Given the description of an element on the screen output the (x, y) to click on. 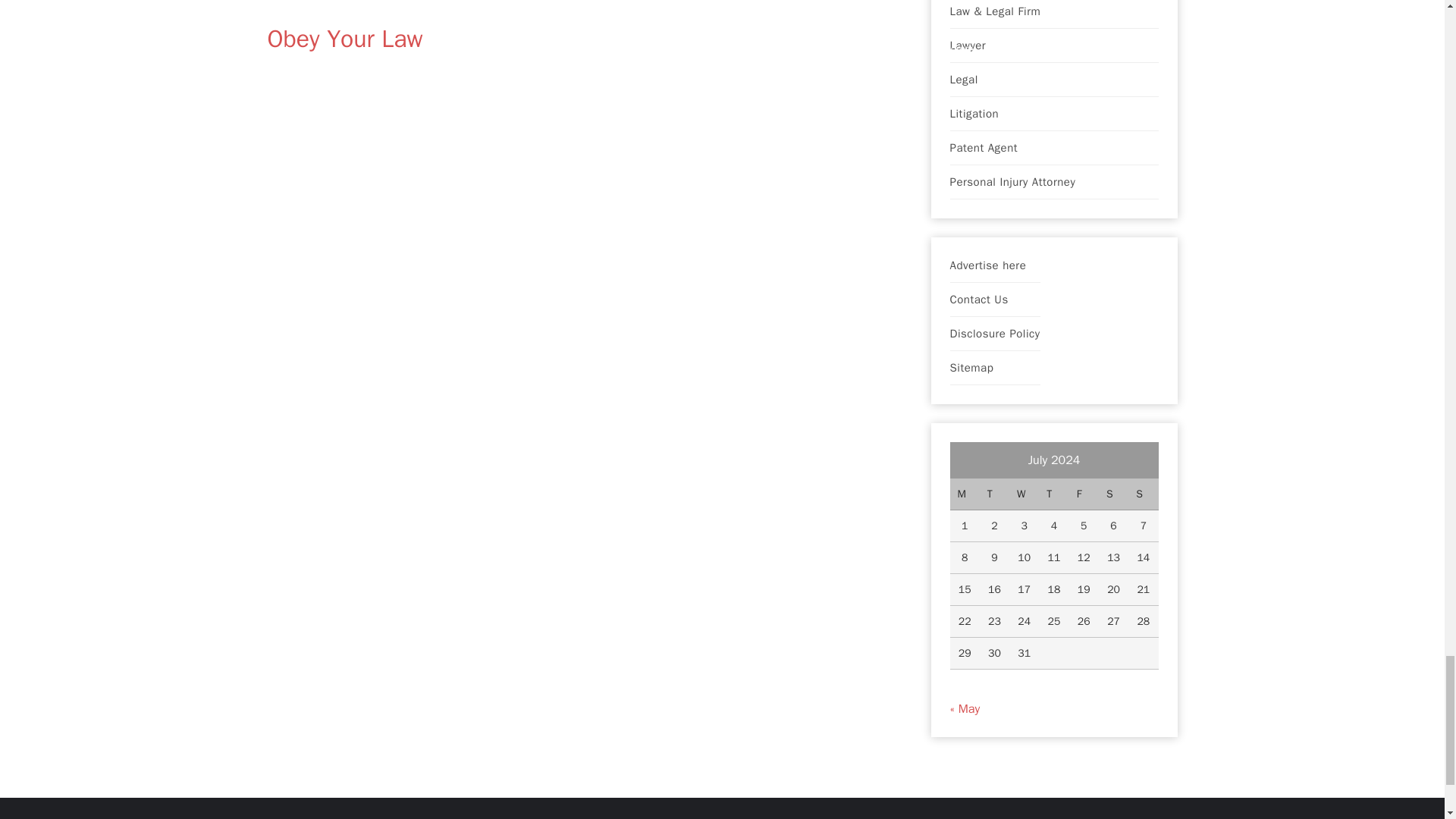
Monday (963, 494)
Wednesday (1024, 494)
Friday (1083, 494)
Tuesday (994, 494)
Sunday (1142, 494)
Thursday (1053, 494)
Saturday (1113, 494)
